Given the description of an element on the screen output the (x, y) to click on. 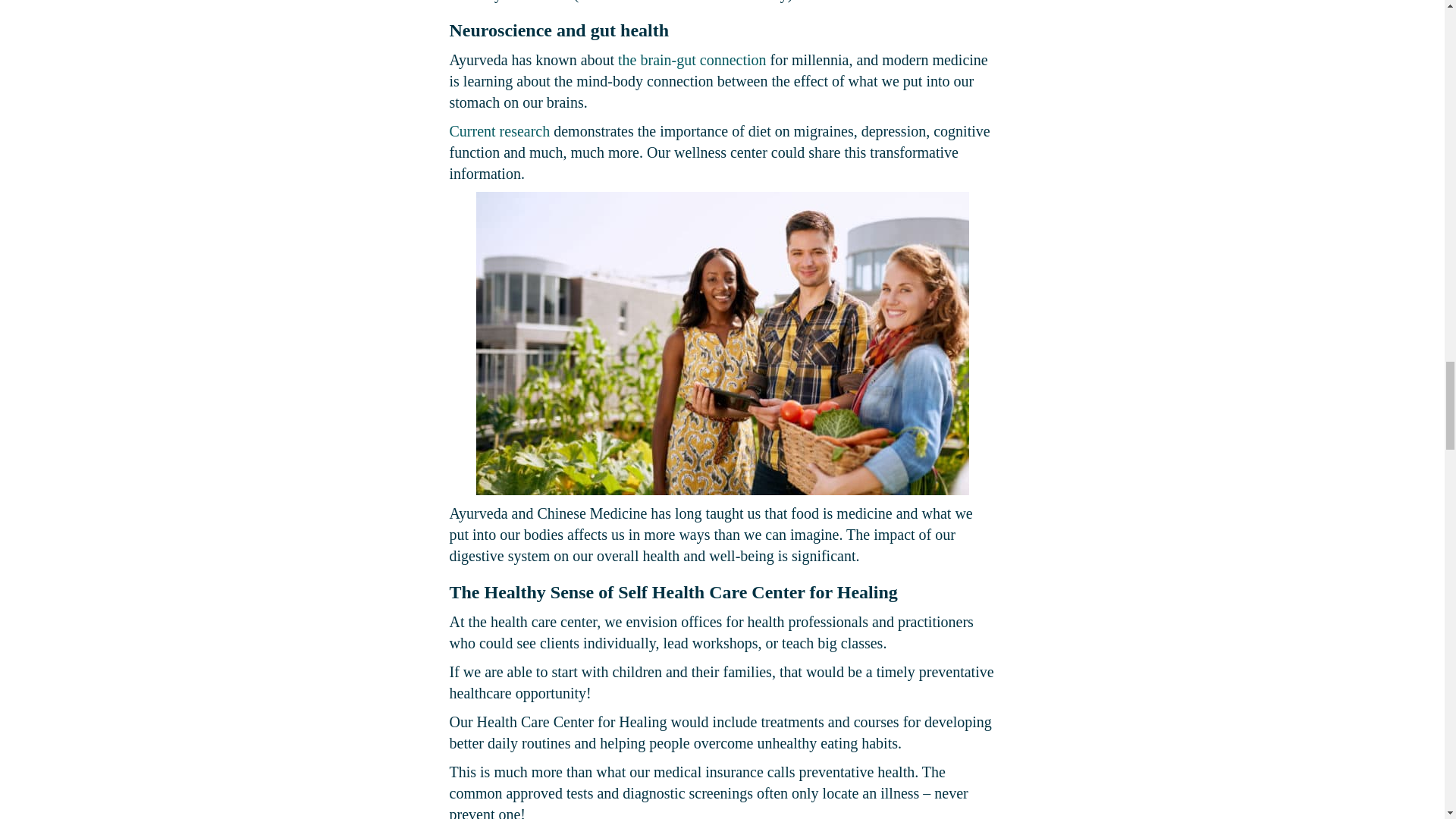
Current research (499, 130)
the brain-gut connection (692, 59)
